Given the description of an element on the screen output the (x, y) to click on. 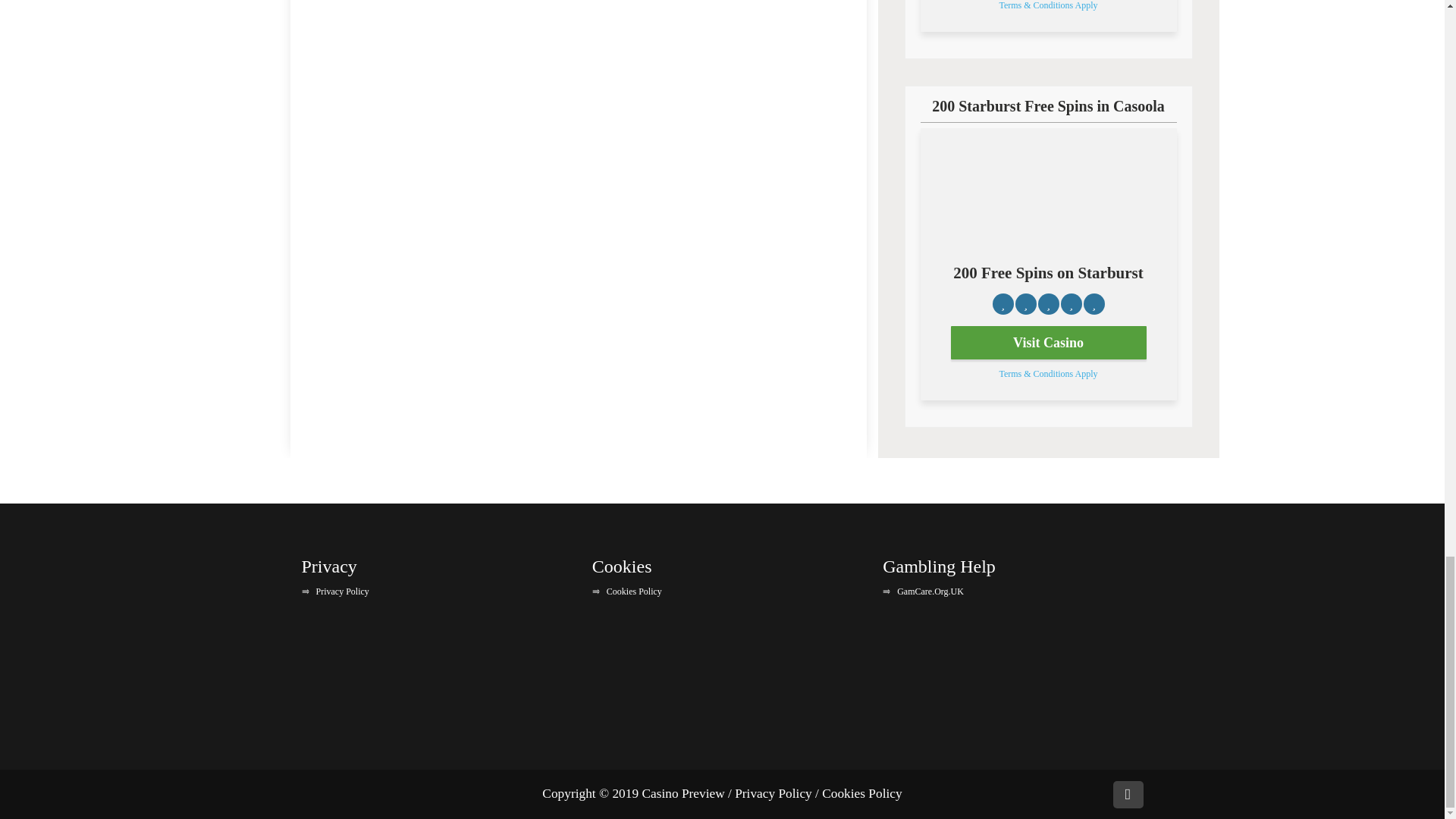
Visit Casino (1048, 342)
